Given the description of an element on the screen output the (x, y) to click on. 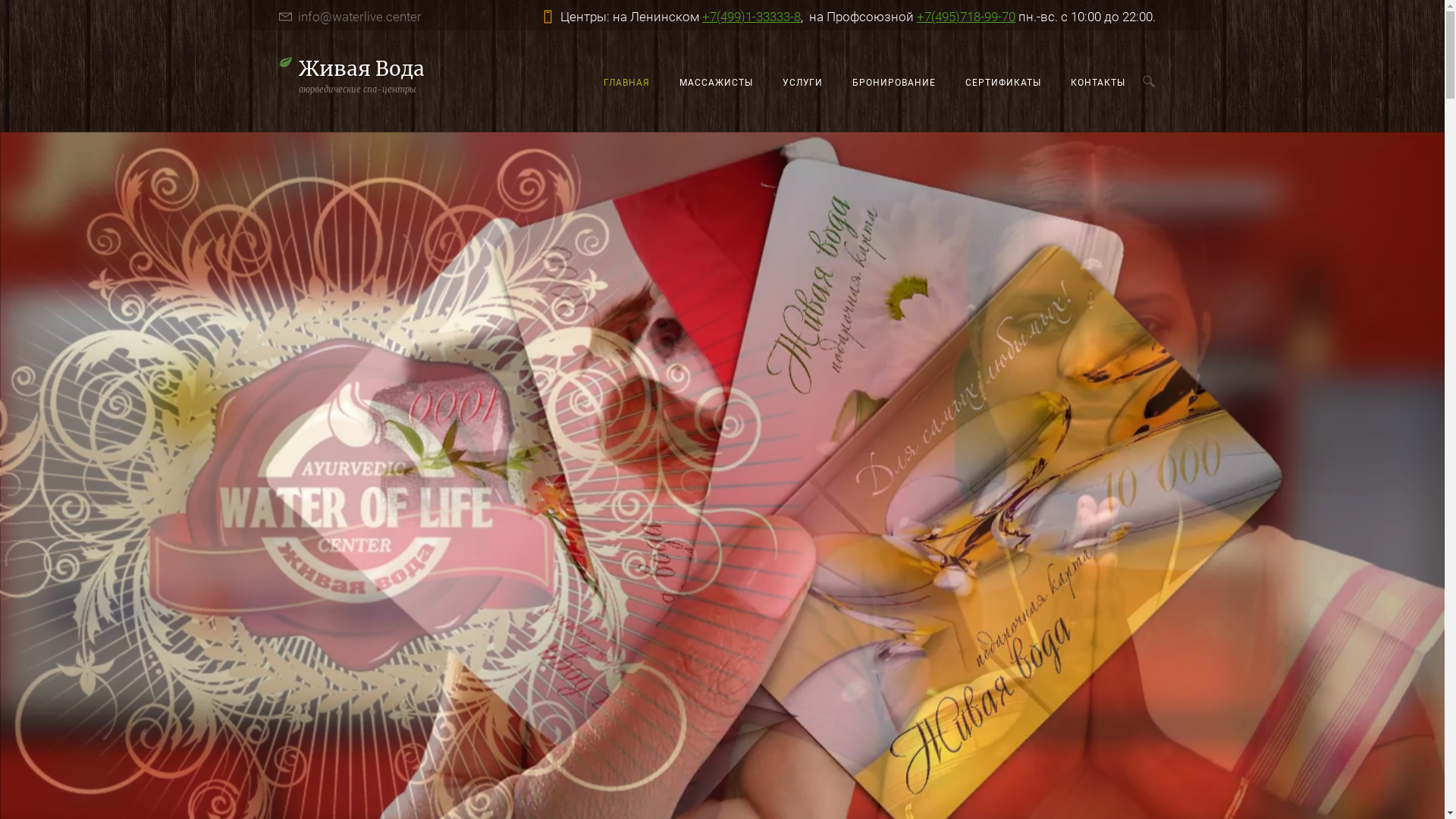
info@waterlive.center Element type: text (359, 16)
Open/close search form Element type: hover (1152, 82)
+7(499)1-33333-8 Element type: text (751, 16)
+7(495)718-99-70 Element type: text (965, 16)
